Given the description of an element on the screen output the (x, y) to click on. 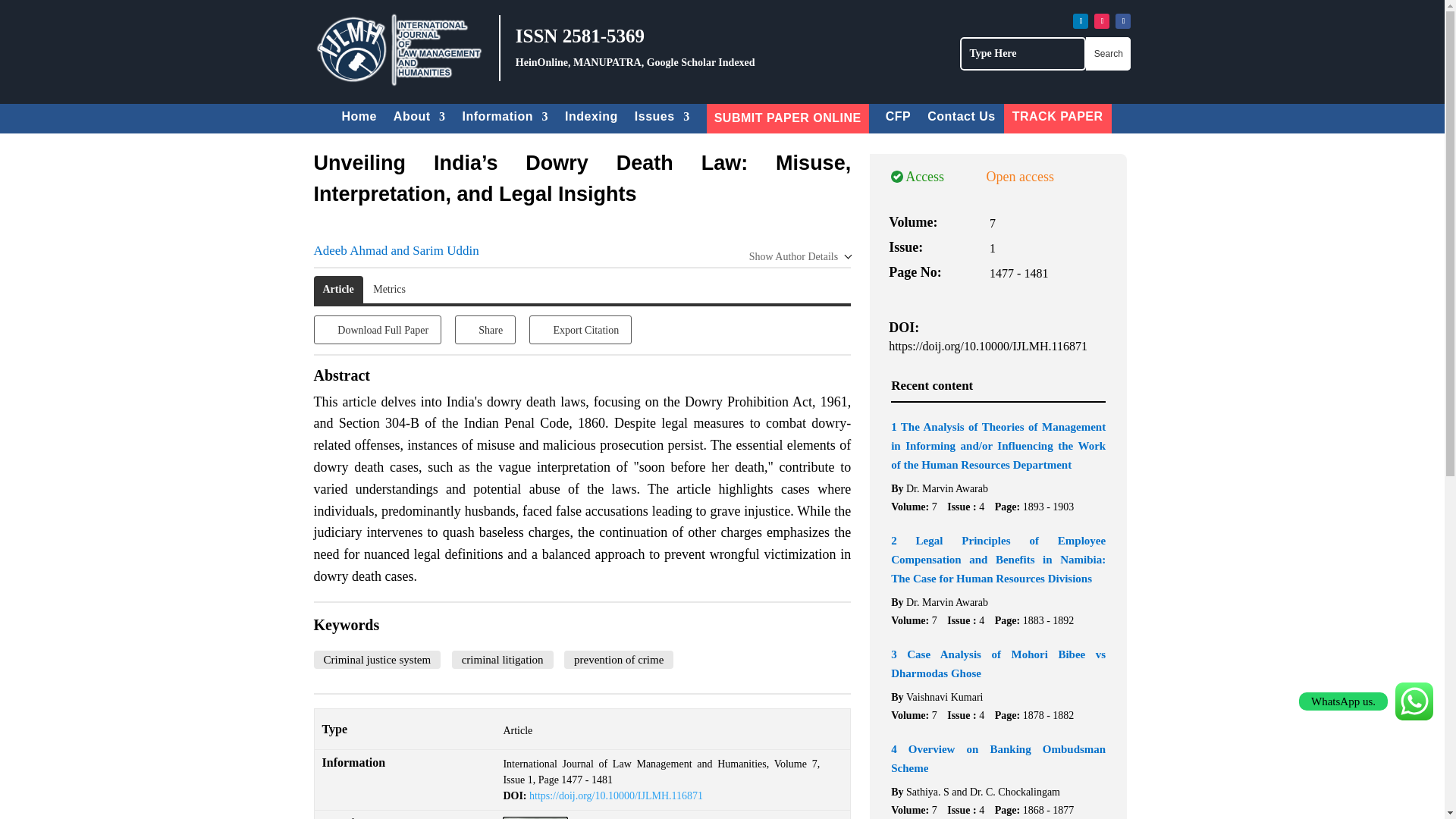
Information (505, 118)
Search (1108, 53)
Follow on Facebook (1123, 20)
Indexing (590, 118)
TRACK PAPER (1057, 118)
Follow on LinkedIn (1080, 20)
SUBMIT PAPER ONLINE (787, 118)
Search (1108, 53)
Follow on Instagram (1101, 20)
Issues (662, 118)
